Given the description of an element on the screen output the (x, y) to click on. 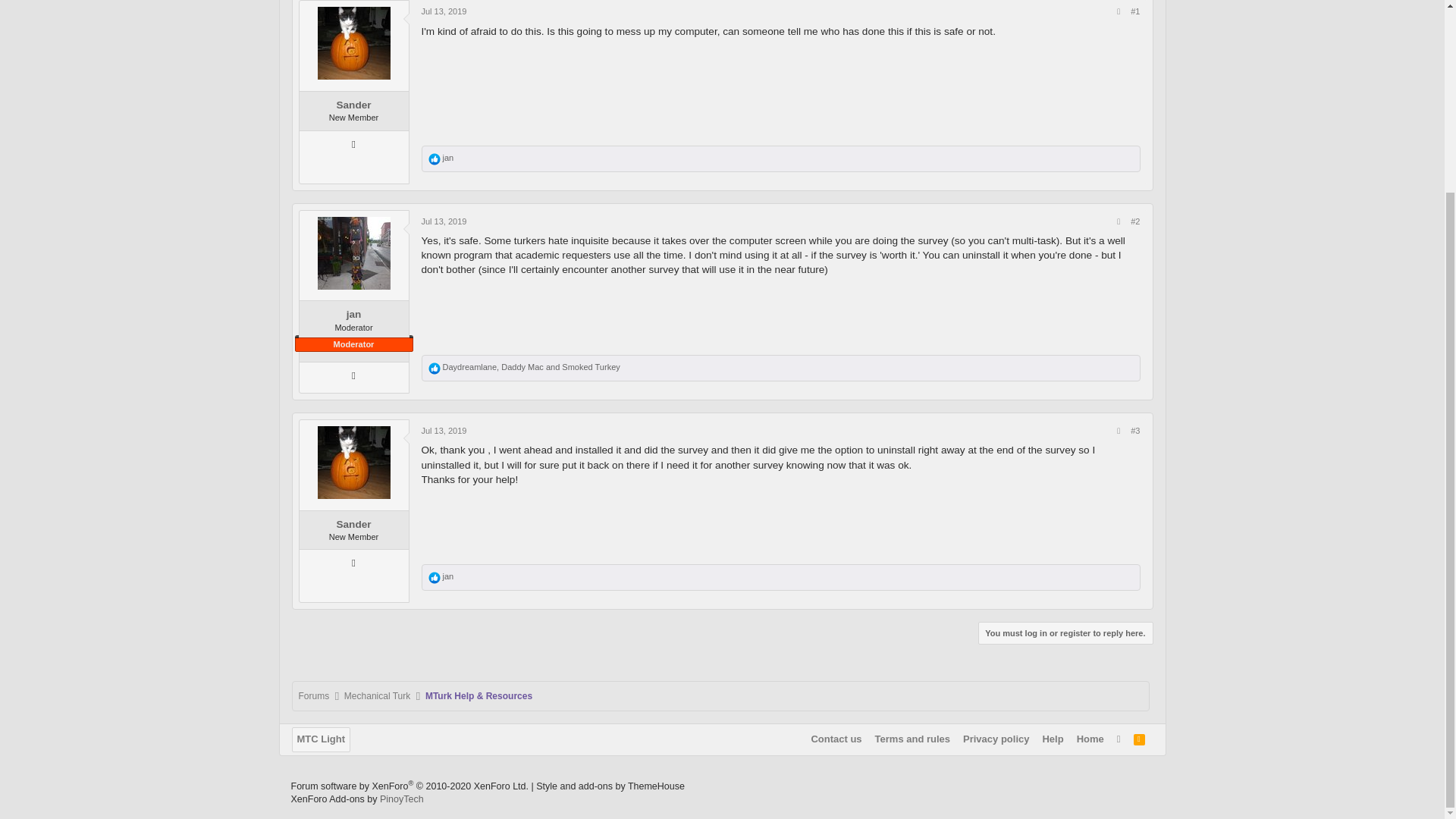
Sander (353, 104)
Like (433, 368)
Jul 13, 2019 (444, 221)
jan (353, 314)
XenForo Add-ons by PinoyTech.ph (401, 798)
Jul 13, 2019 (444, 10)
RSS (1139, 739)
Jul 13, 2019 at 11:11 AM (444, 221)
Like (433, 577)
Jul 13, 2019 at 11:19 AM (444, 429)
jan (448, 157)
Jul 13, 2019 at 11:01 AM (444, 10)
Like (433, 159)
